Given the description of an element on the screen output the (x, y) to click on. 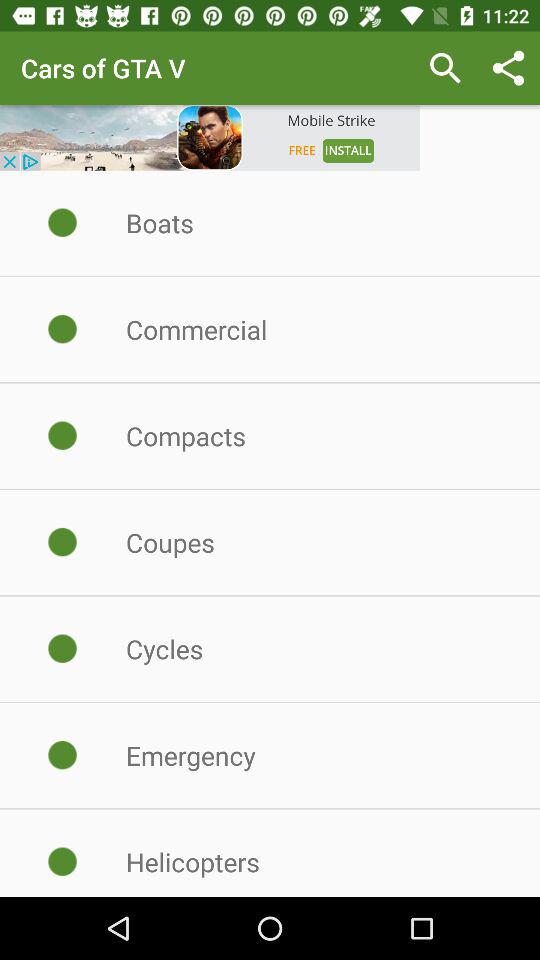
click the share button (508, 68)
go to compacts click the beside  radio button (62, 435)
go to boats click beside radio button (62, 222)
click the search button (445, 68)
